Given the description of an element on the screen output the (x, y) to click on. 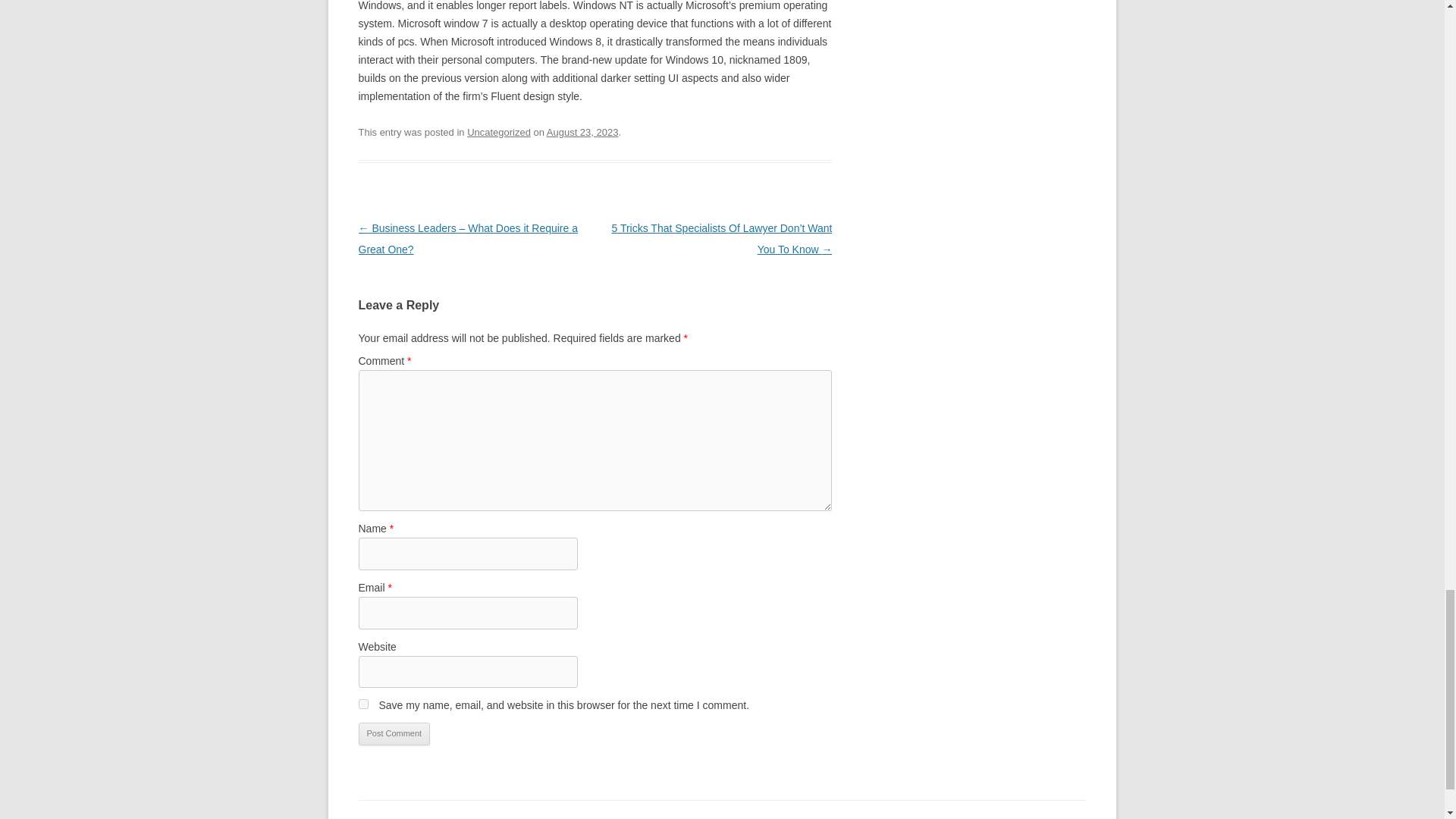
yes (363, 704)
Post Comment (393, 733)
Post Comment (393, 733)
August 23, 2023 (582, 132)
Uncategorized (499, 132)
9:30 am (582, 132)
